Given the description of an element on the screen output the (x, y) to click on. 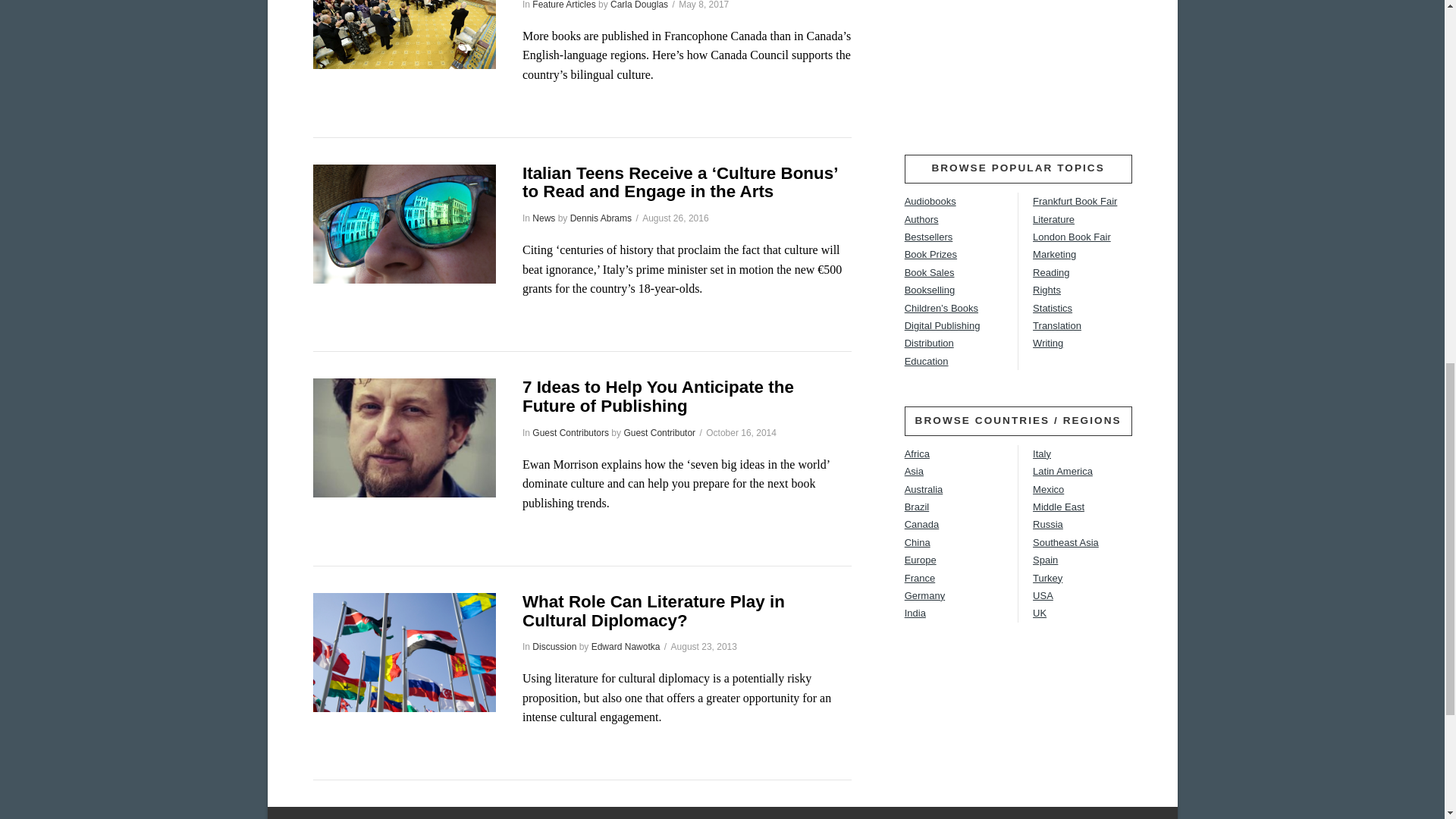
Feature Articles (563, 4)
